Given the description of an element on the screen output the (x, y) to click on. 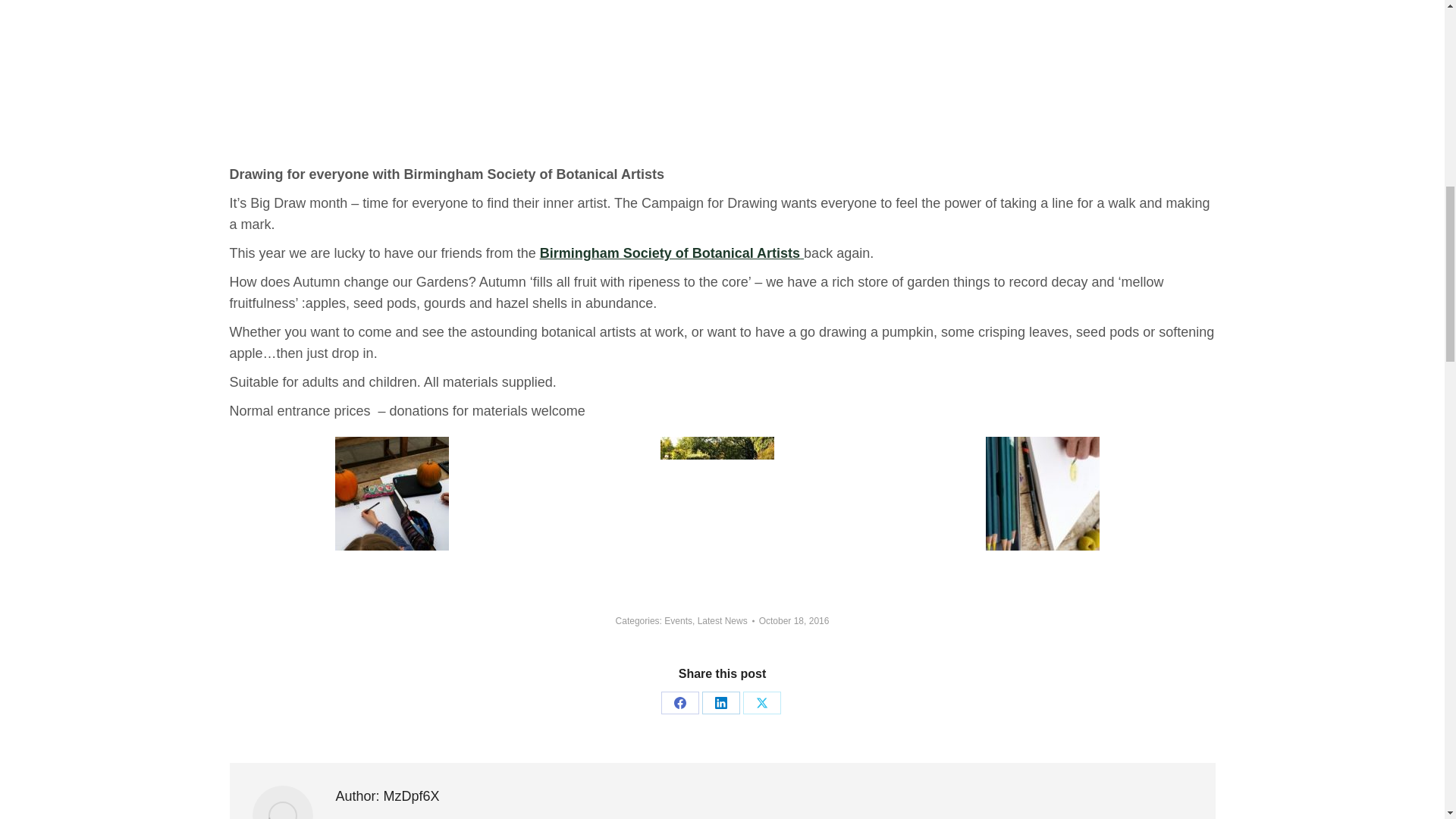
Facebook (679, 702)
2:38 pm (793, 620)
LinkedIn (720, 702)
X (761, 702)
